Given the description of an element on the screen output the (x, y) to click on. 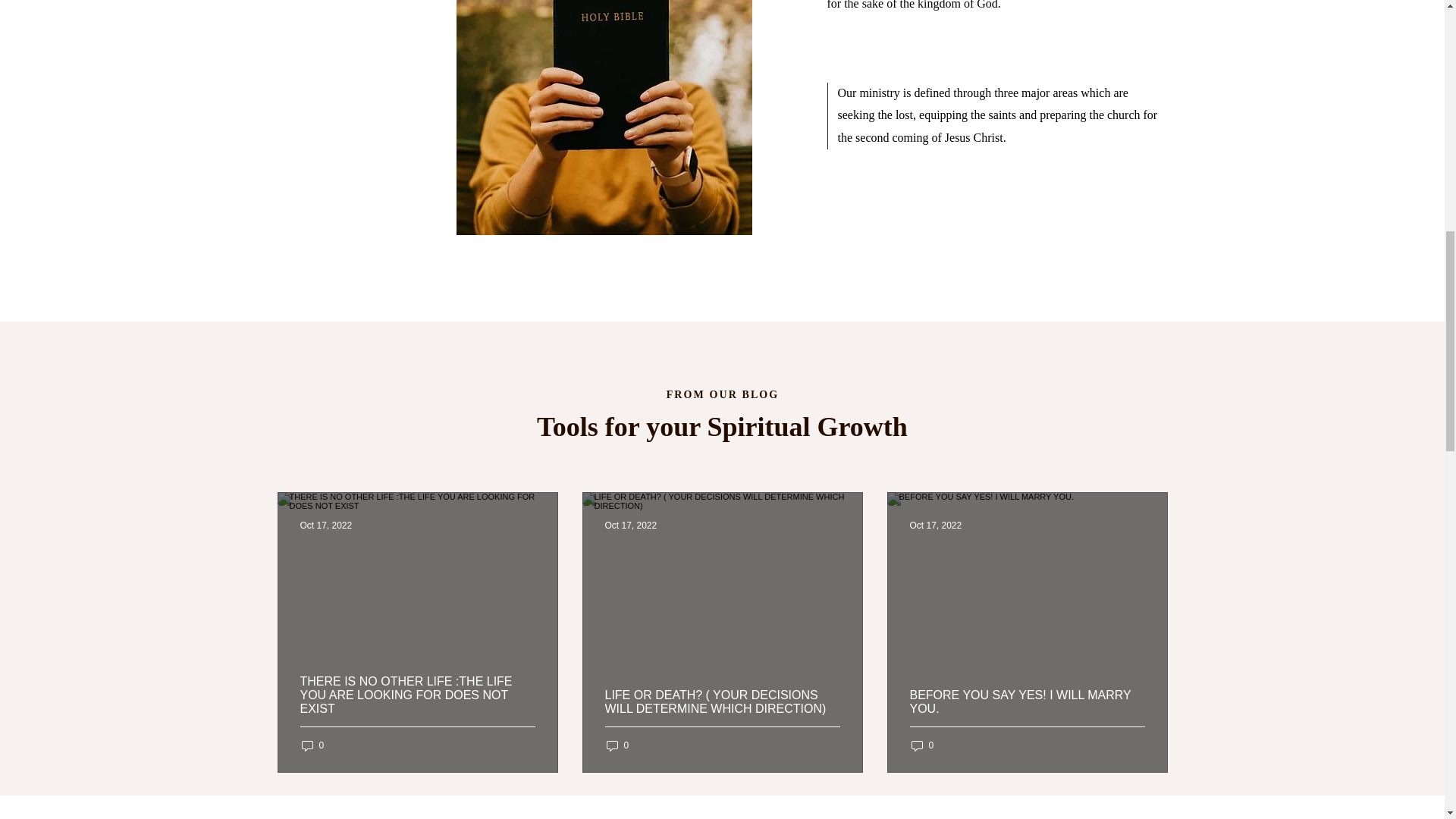
Oct 17, 2022 (631, 525)
0 (923, 745)
0 (312, 745)
0 (617, 745)
Oct 17, 2022 (936, 525)
Oct 17, 2022 (325, 525)
BEFORE YOU SAY YES! I WILL MARRY YOU. (1027, 719)
